Given the description of an element on the screen output the (x, y) to click on. 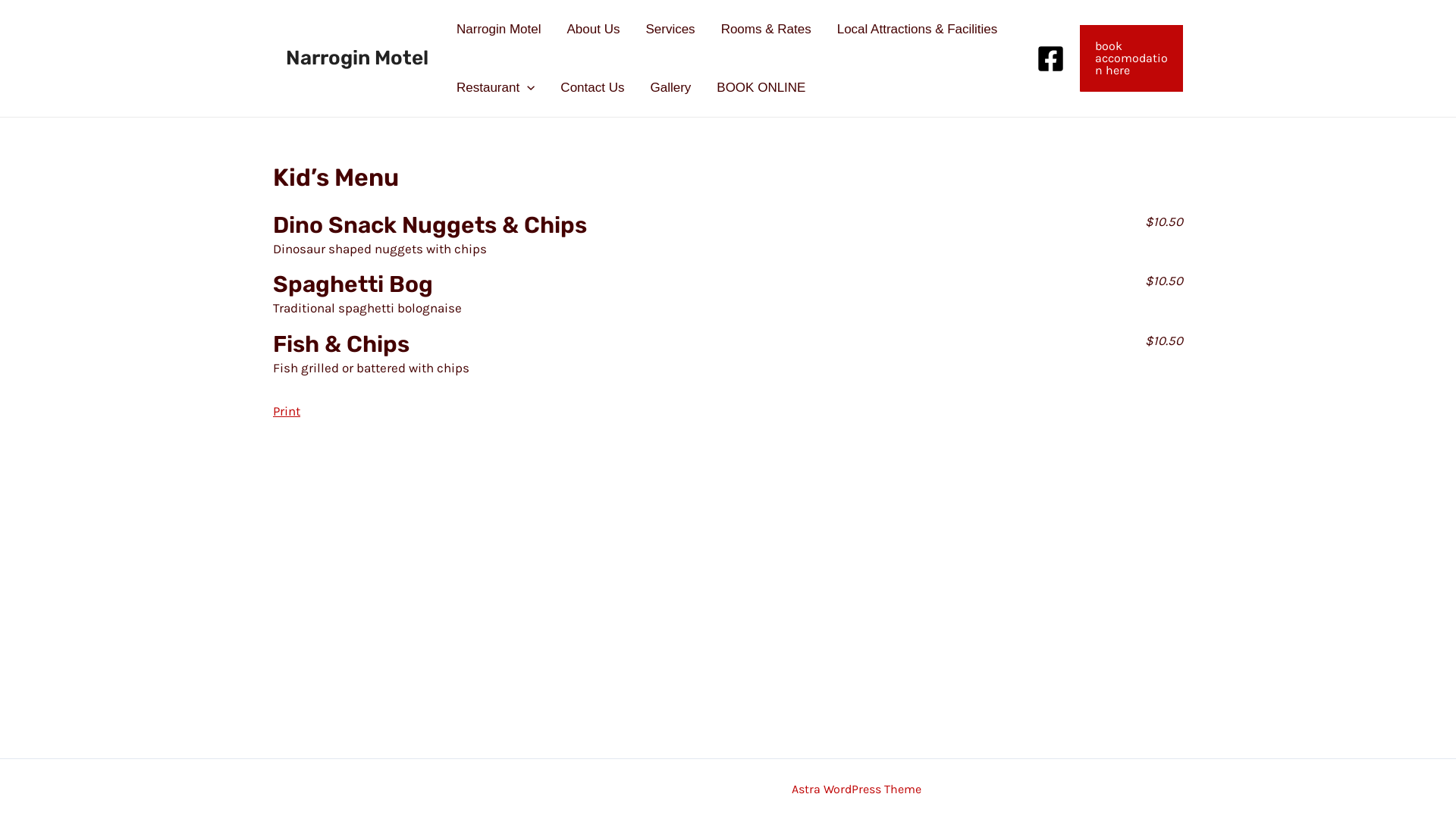
Contact Us Element type: text (592, 87)
Gallery Element type: text (670, 87)
Services Element type: text (669, 29)
About Us Element type: text (592, 29)
Rooms & Rates Element type: text (766, 29)
Print Element type: text (286, 410)
Narrogin Motel Element type: text (498, 29)
Narrogin Motel Element type: text (356, 57)
Restaurant Element type: text (495, 87)
BOOK ONLINE Element type: text (760, 87)
Local Attractions & Facilities Element type: text (917, 29)
Astra WordPress Theme Element type: text (856, 788)
book accomodation here Element type: text (1131, 58)
